Given the description of an element on the screen output the (x, y) to click on. 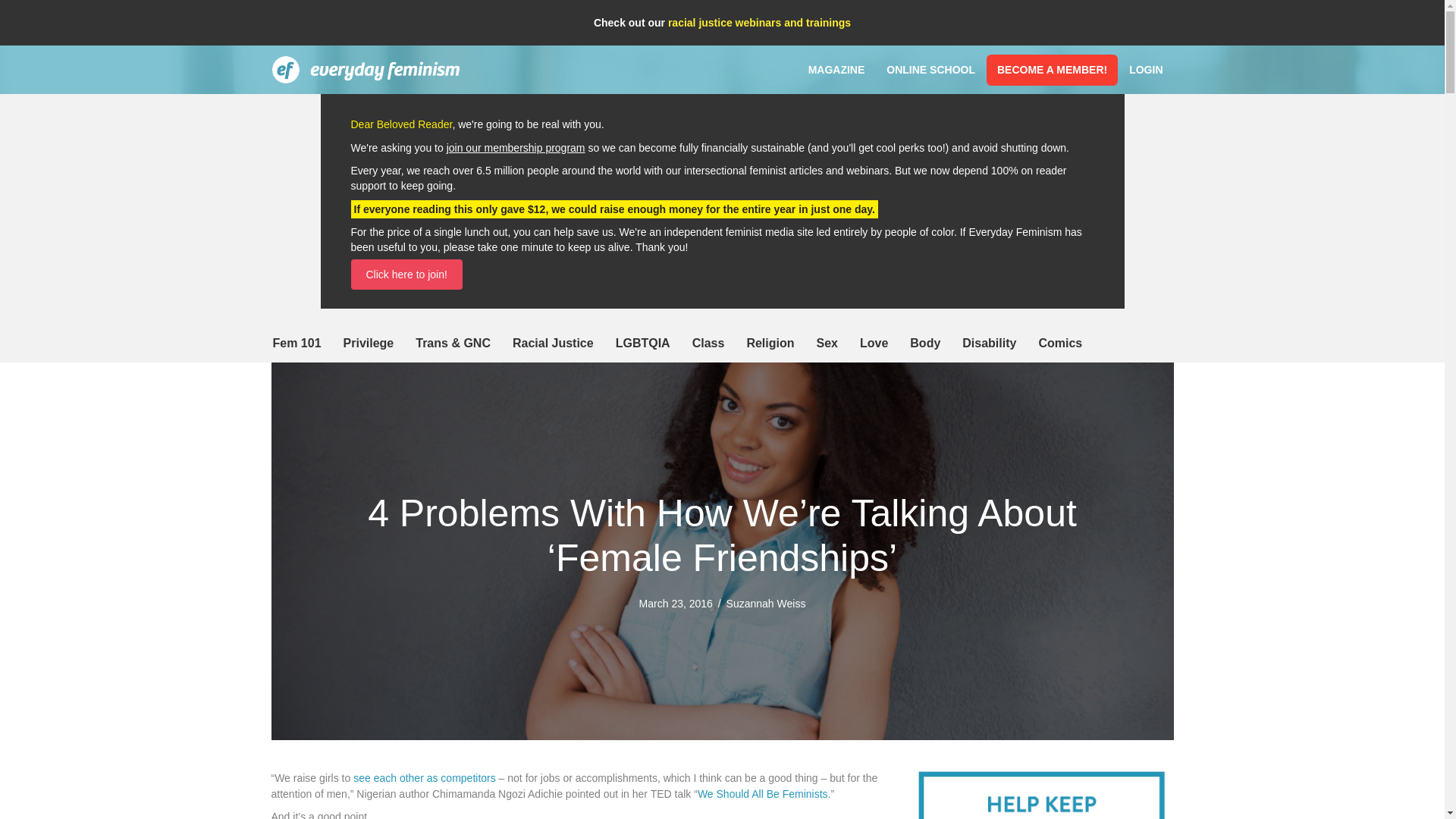
LOGIN (1145, 69)
Disability (989, 342)
Body (924, 342)
Love (873, 342)
Suzannah Weiss (766, 603)
ONLINE SCHOOL (930, 69)
Religion (770, 342)
see each other as competitors (424, 777)
Racial Justice (553, 342)
Sex (826, 342)
Top-bar-logo2 (365, 69)
LGBTQIA (643, 342)
Fem 101 (296, 342)
Comics (1060, 342)
Privilege (368, 342)
